Given the description of an element on the screen output the (x, y) to click on. 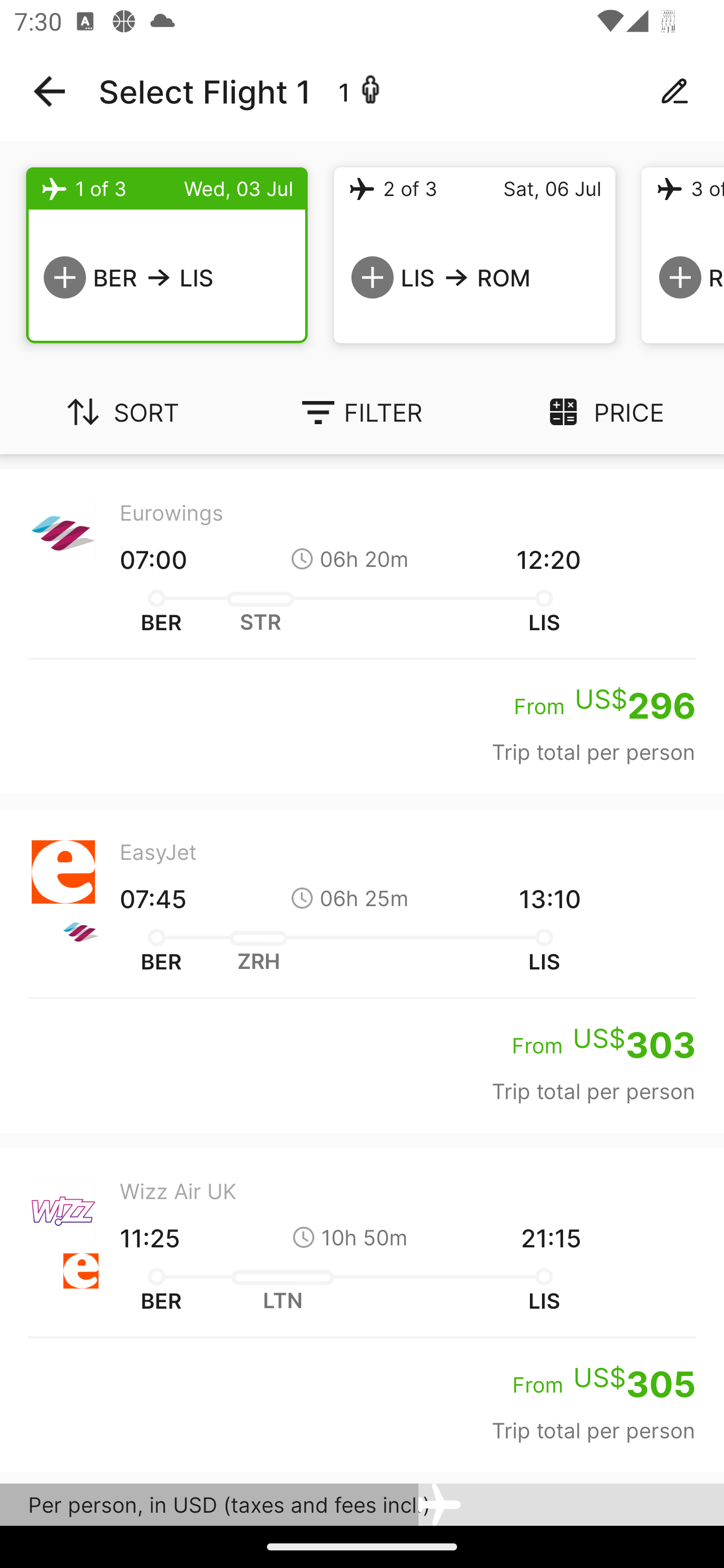
Select Flight 1   1 - (362, 91)
1 of 3 Wed, 03 Jul BER LIS (166, 255)
2 of 3 Sat, 06 Jul LIS ROM (474, 255)
SORT (120, 412)
FILTER (361, 412)
PRICE (603, 412)
Eurowings (362, 1498)
